Given the description of an element on the screen output the (x, y) to click on. 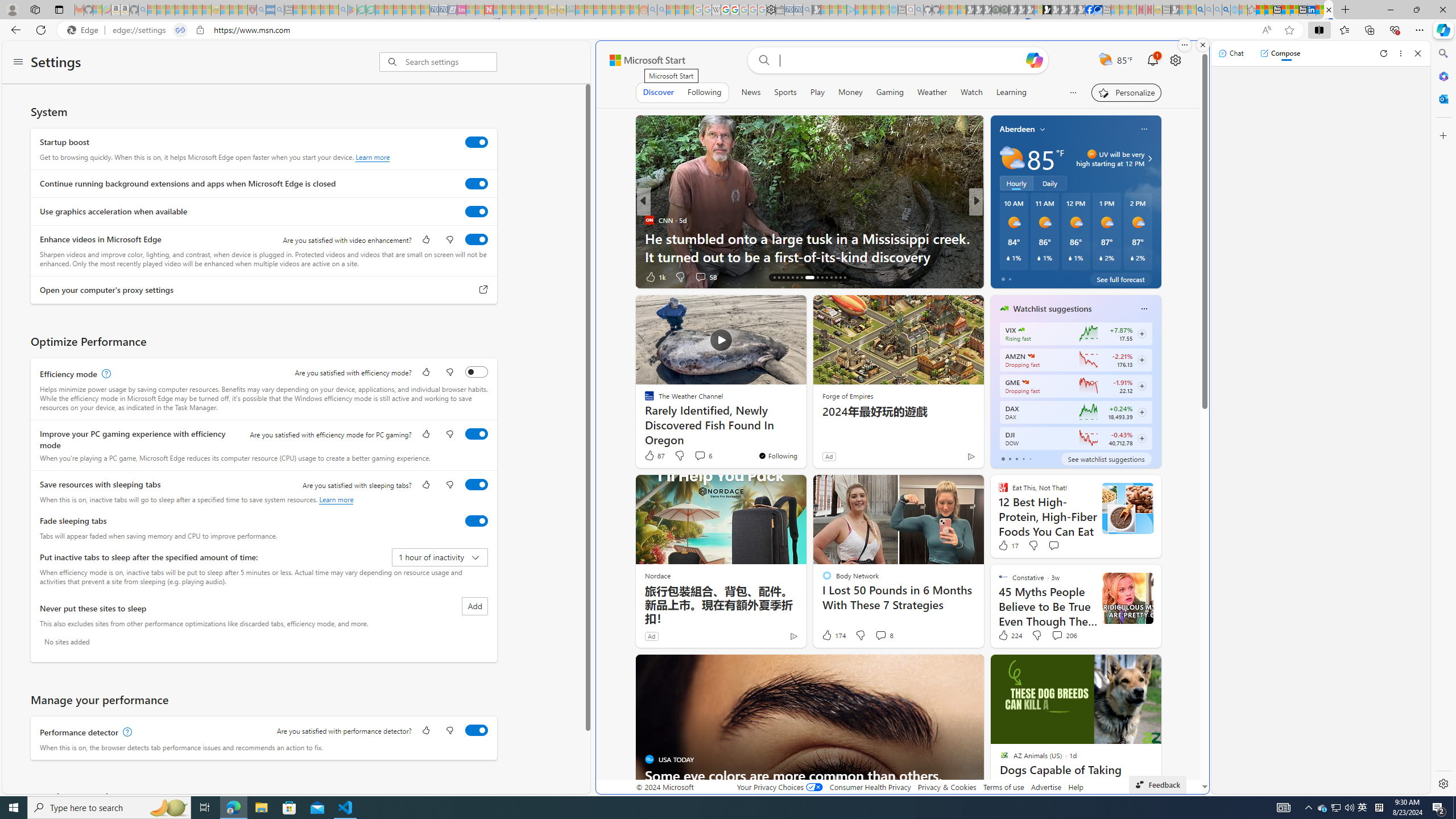
Privacy Help Center - Policies Help (725, 9)
Aberdeen, Hong Kong SAR weather forecast | Microsoft Weather (1268, 9)
Watch (971, 92)
AutomationID: tab-30 (845, 277)
Side bar (1443, 418)
tab-2 (1016, 458)
Robert H. Shmerling, MD - Harvard Health - Sleeping (252, 9)
Open your computer's proxy settings (483, 290)
